Given the description of an element on the screen output the (x, y) to click on. 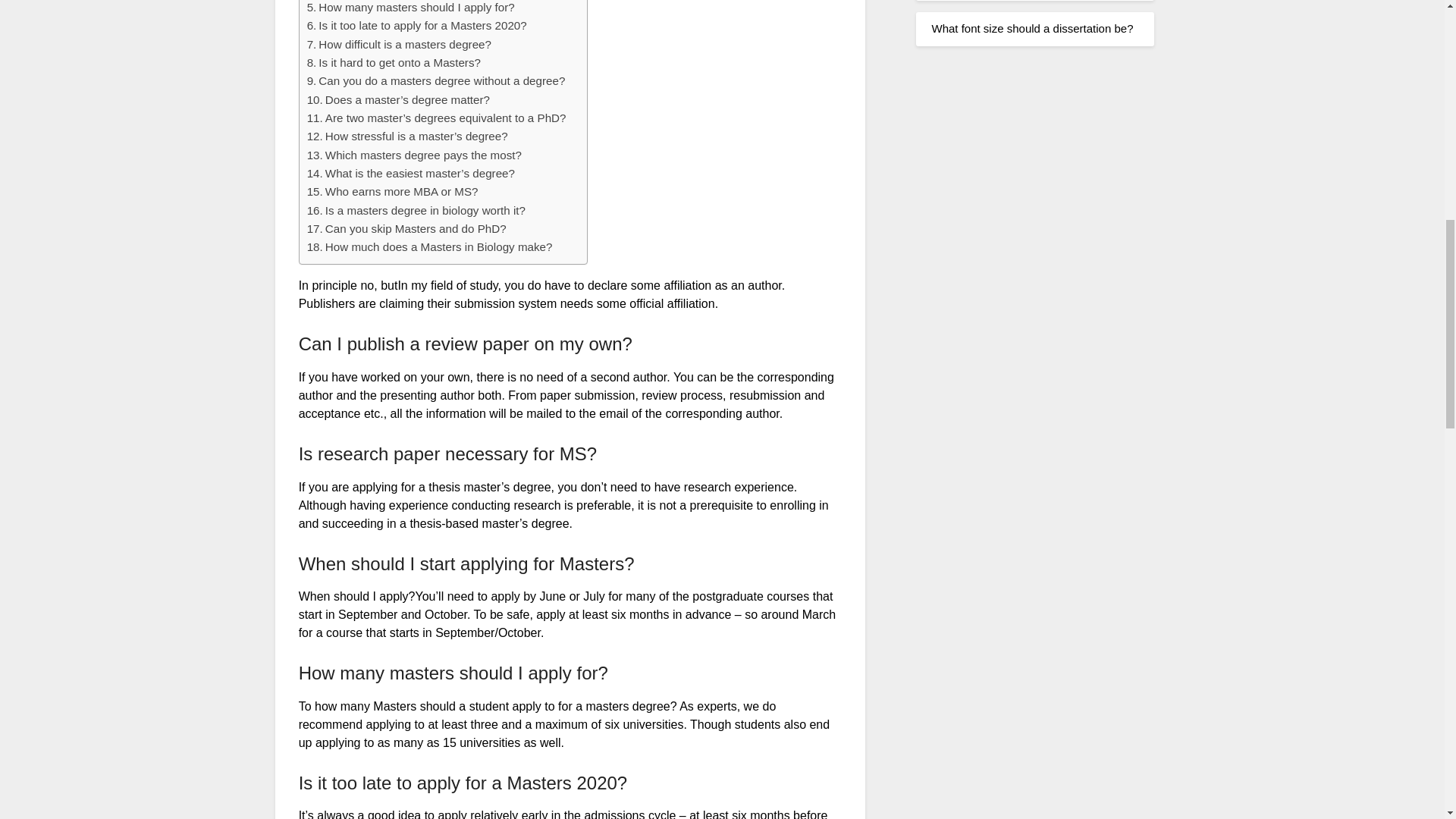
Can you do a masters degree without a degree? (436, 81)
Who earns more MBA or MS? (393, 191)
Is it hard to get onto a Masters? (393, 63)
Is it hard to get onto a Masters? (393, 63)
Is it too late to apply for a Masters 2020? (417, 25)
How much does a Masters in Biology make? (430, 247)
Can you skip Masters and do PhD? (406, 229)
Which masters degree pays the most? (414, 155)
Who earns more MBA or MS? (393, 191)
How many masters should I apply for? (411, 8)
